Given the description of an element on the screen output the (x, y) to click on. 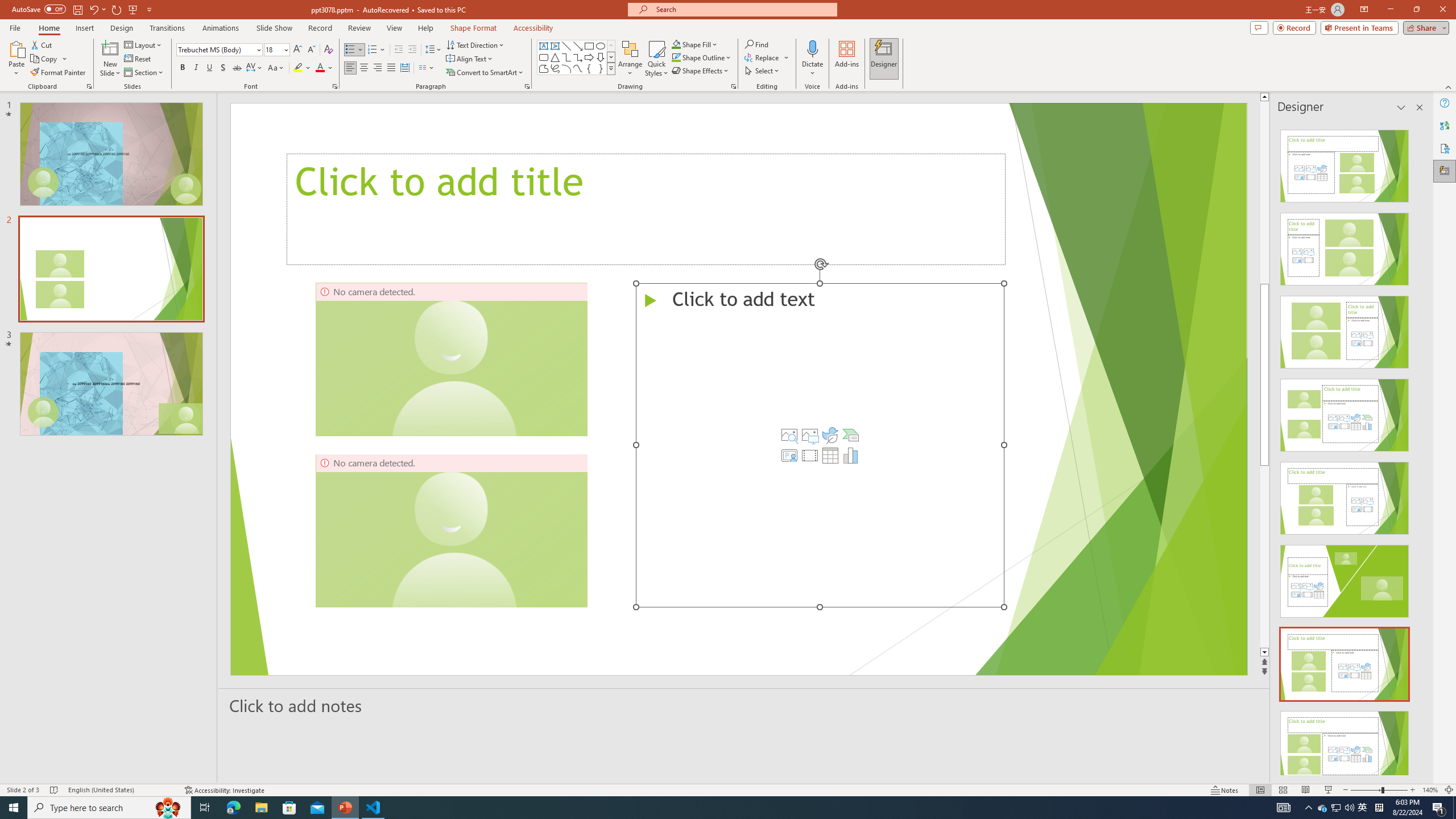
Title TextBox (646, 209)
